Given the description of an element on the screen output the (x, y) to click on. 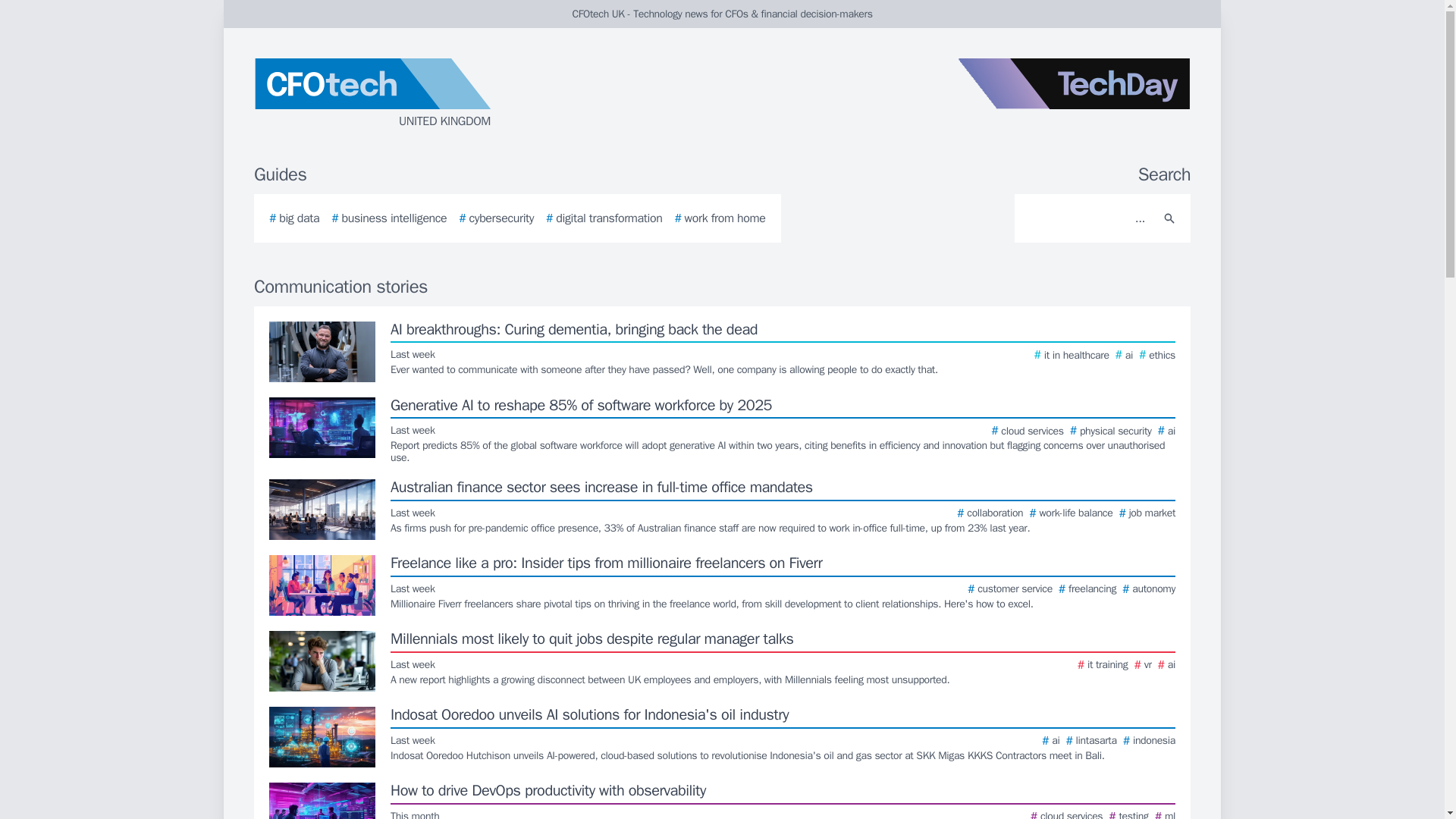
UNITED KINGDOM (435, 94)
